Given the description of an element on the screen output the (x, y) to click on. 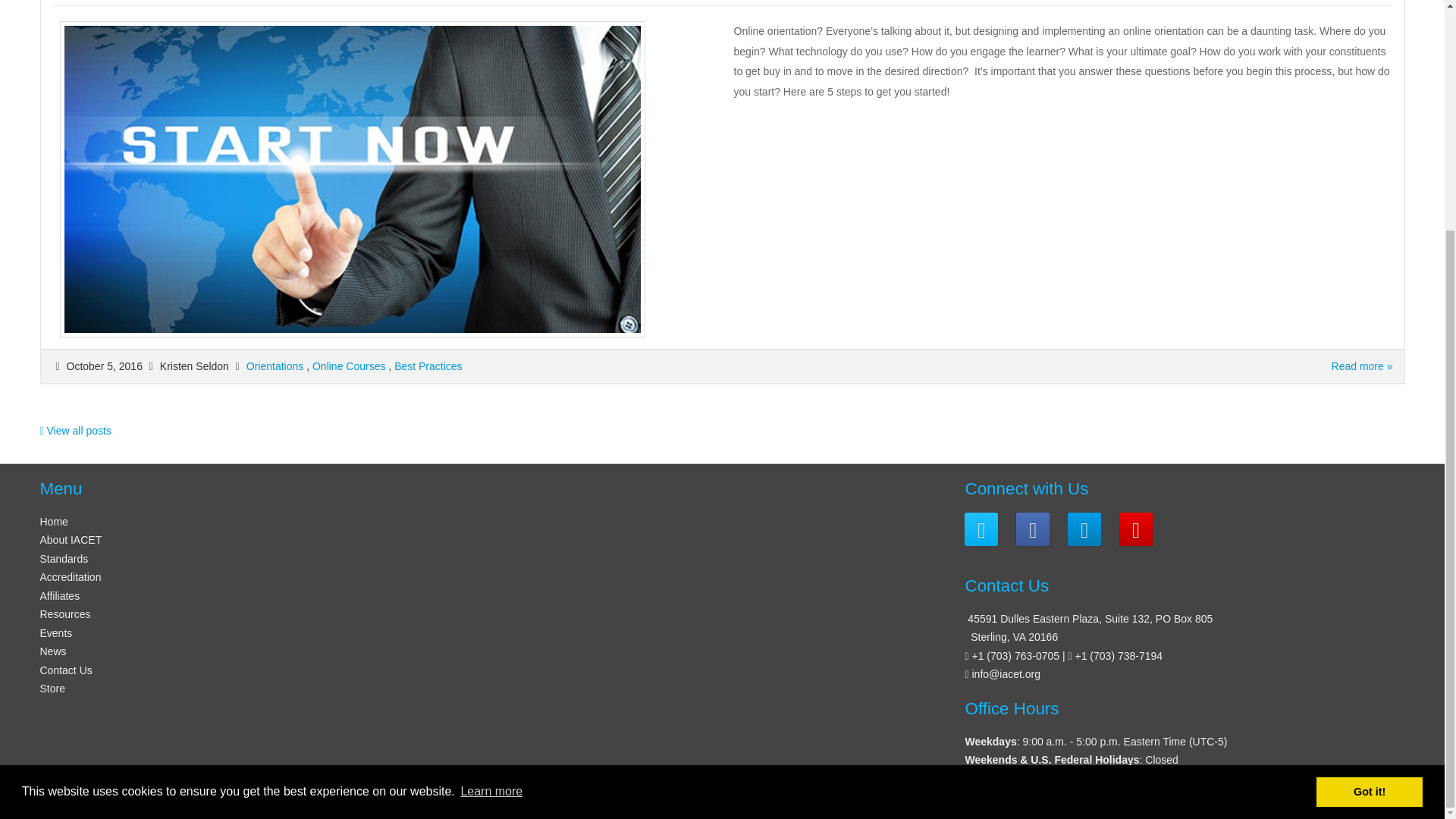
Got it! (1369, 480)
Learn more (491, 479)
